Given the description of an element on the screen output the (x, y) to click on. 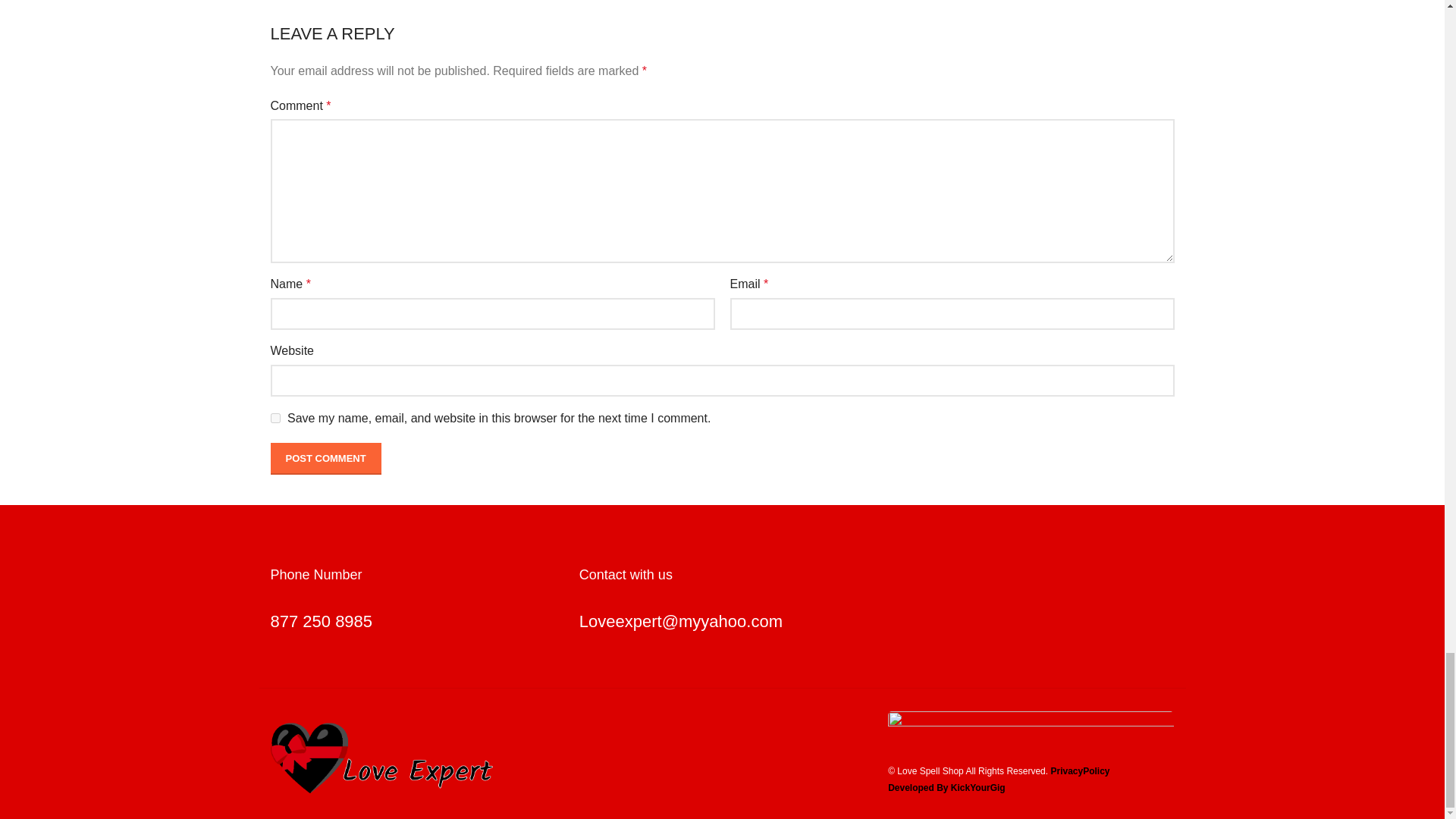
Post Comment (324, 459)
KickYourGig  (978, 787)
yes (274, 418)
PrivacyPolicy (1079, 770)
Post Comment (324, 459)
